Given the description of an element on the screen output the (x, y) to click on. 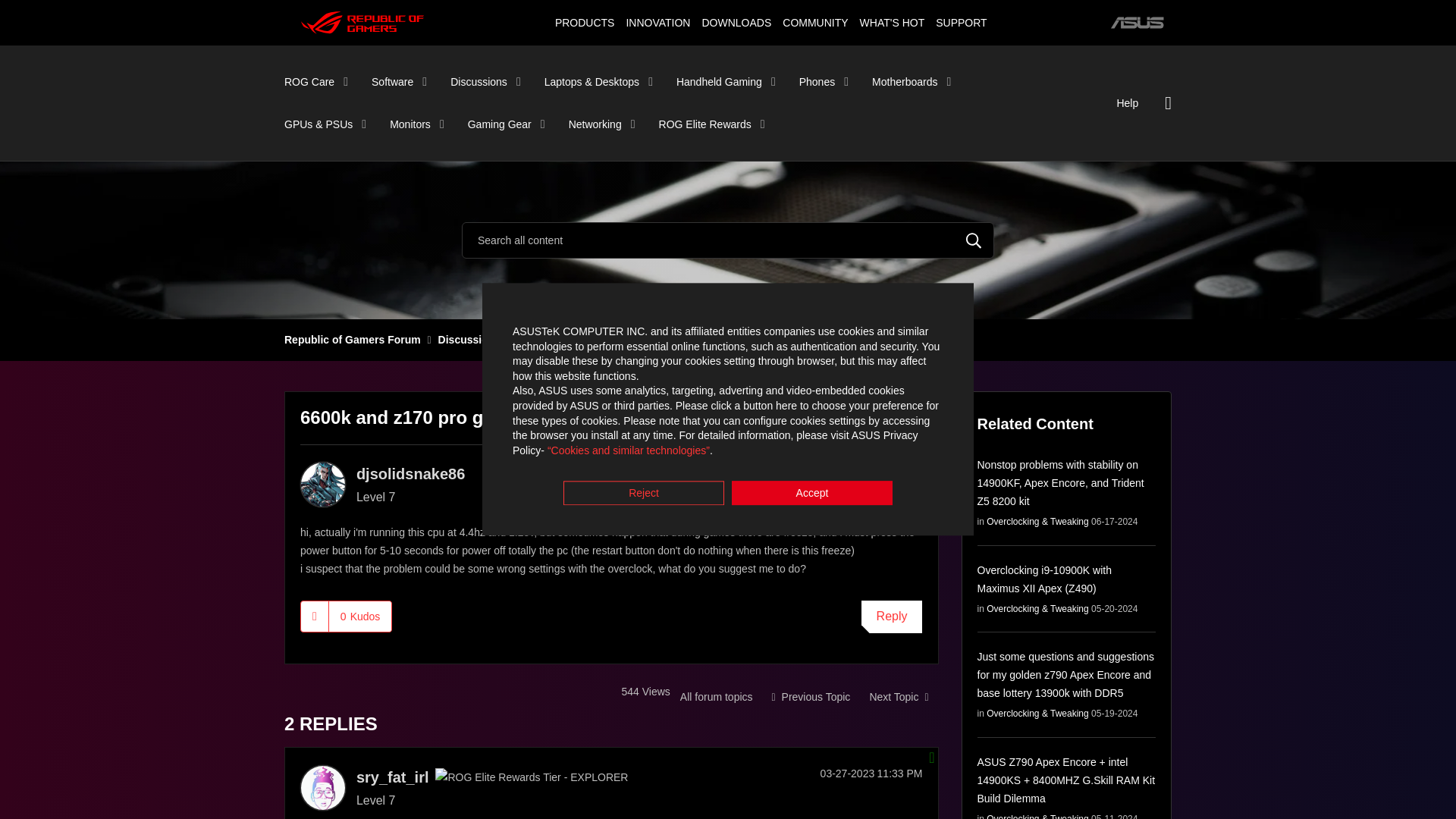
ROG Elite Rewards Tier - EXPLORER (531, 777)
djsolidsnake86 (322, 483)
Search (973, 239)
INNOVATION (657, 22)
QFan in bios and changing the temperature sensor (898, 696)
COMMUNITY (815, 22)
Click here to give kudos to this post. (315, 615)
Search (727, 239)
DOWNLOADS (736, 22)
PRODUCTS (584, 22)
